Given the description of an element on the screen output the (x, y) to click on. 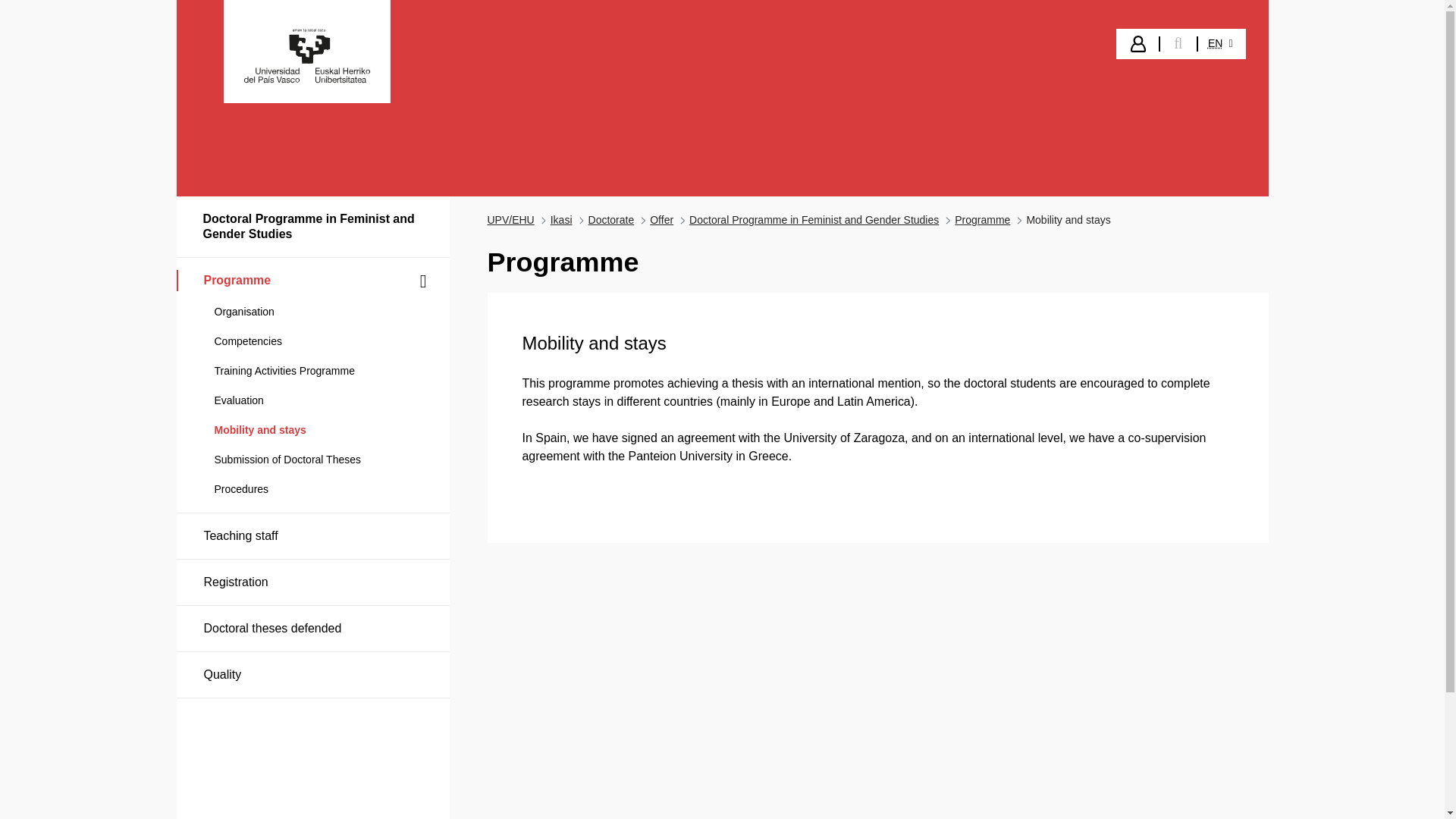
Procedures (312, 489)
Doctoral Programme in Feminist and Gender Studies (813, 220)
Doctorate (611, 220)
Mobility and stays (312, 430)
English (1215, 42)
Doctoral Programme in Feminist and Gender Studies (312, 226)
Doctoral Programme in Feminist and Gender Studies (813, 220)
Offer (660, 220)
Competencies (312, 341)
Login (1138, 43)
